Given the description of an element on the screen output the (x, y) to click on. 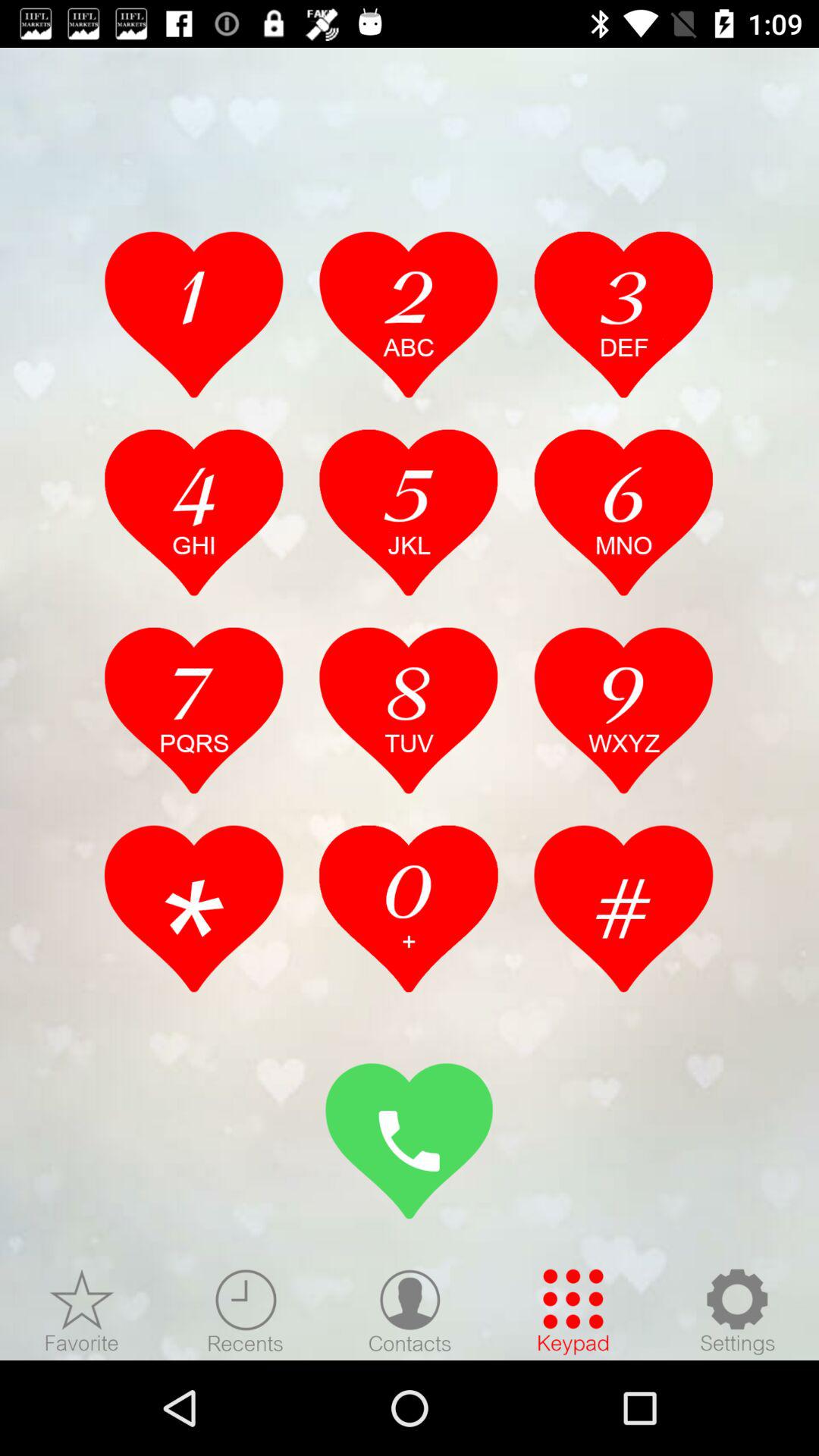
5jkl (408, 512)
